Given the description of an element on the screen output the (x, y) to click on. 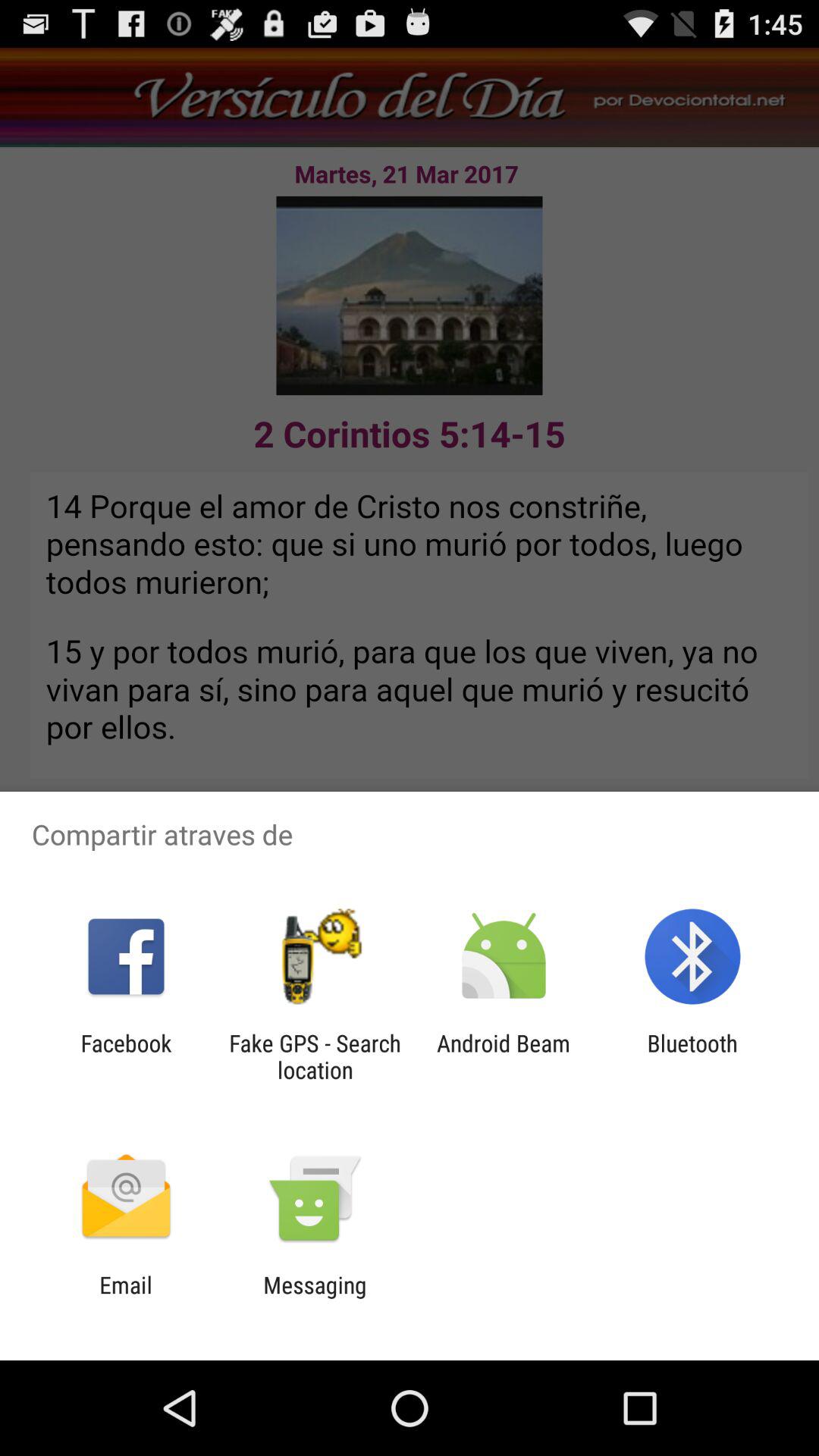
jump to bluetooth app (692, 1056)
